Given the description of an element on the screen output the (x, y) to click on. 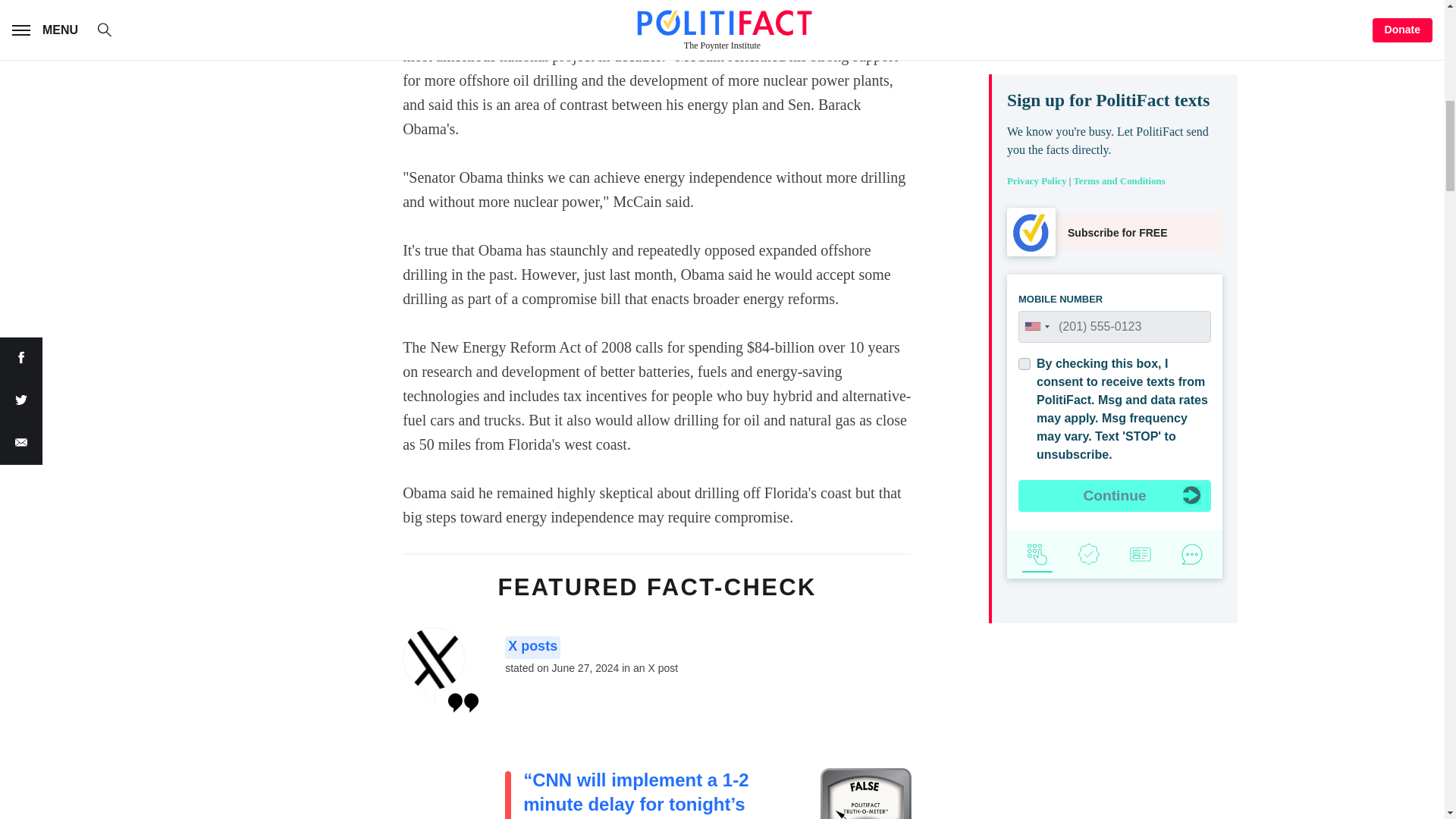
X posts (532, 647)
